Given the description of an element on the screen output the (x, y) to click on. 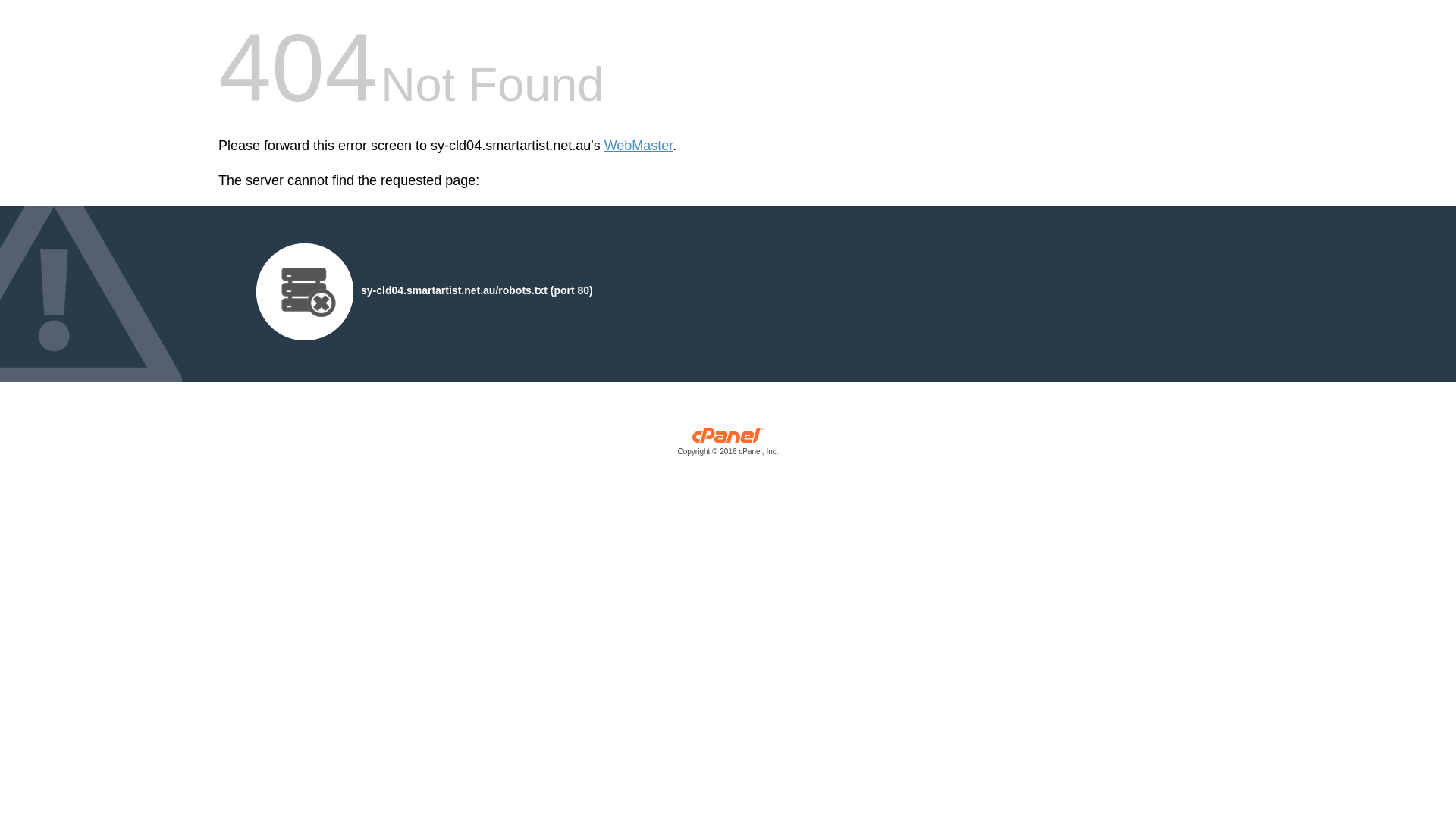
WebMaster Element type: text (638, 145)
